Given the description of an element on the screen output the (x, y) to click on. 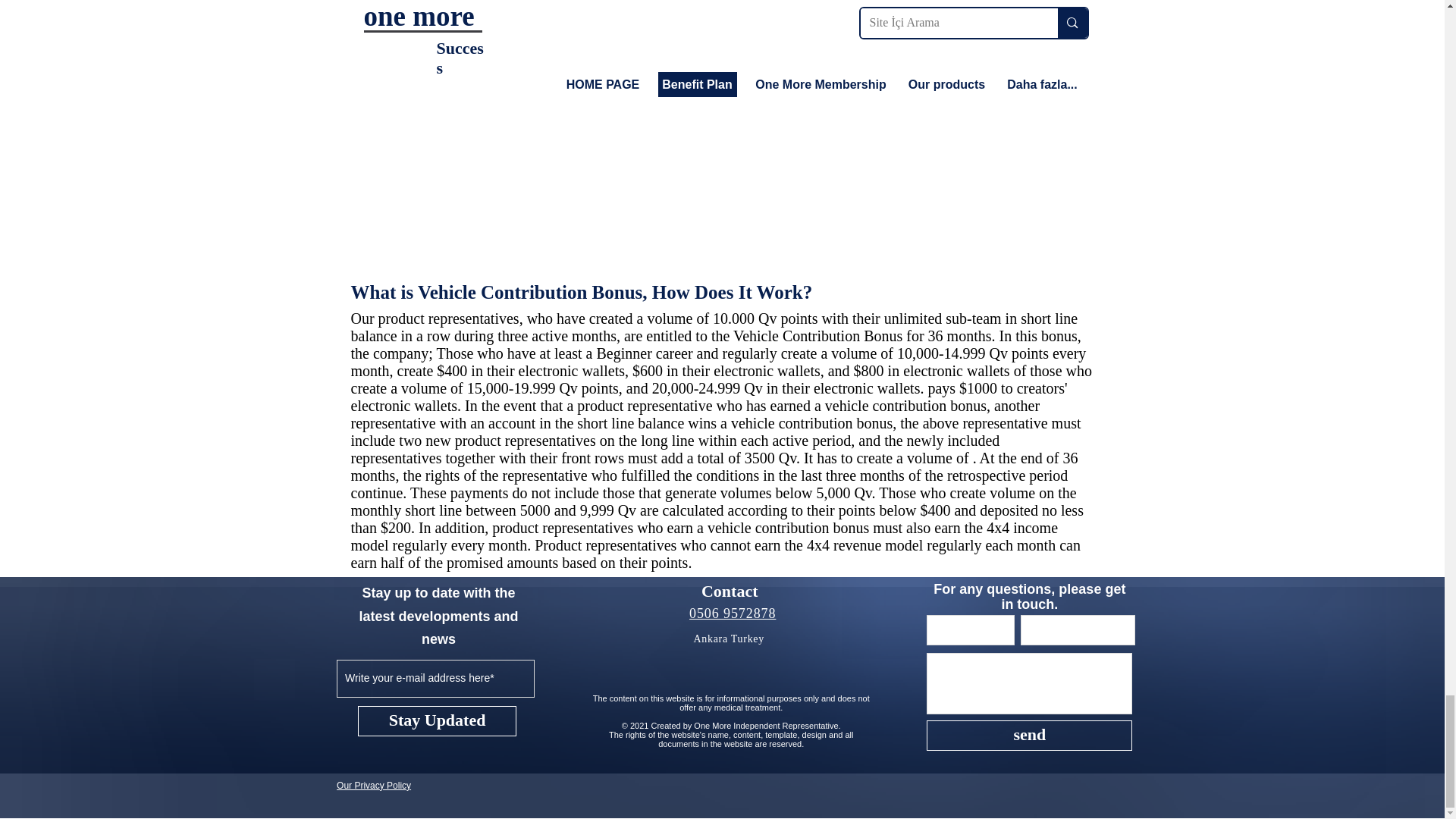
send (1029, 735)
0506 9572878 (732, 613)
Our Privacy Policy (373, 785)
Stay Updated (437, 720)
